Given the description of an element on the screen output the (x, y) to click on. 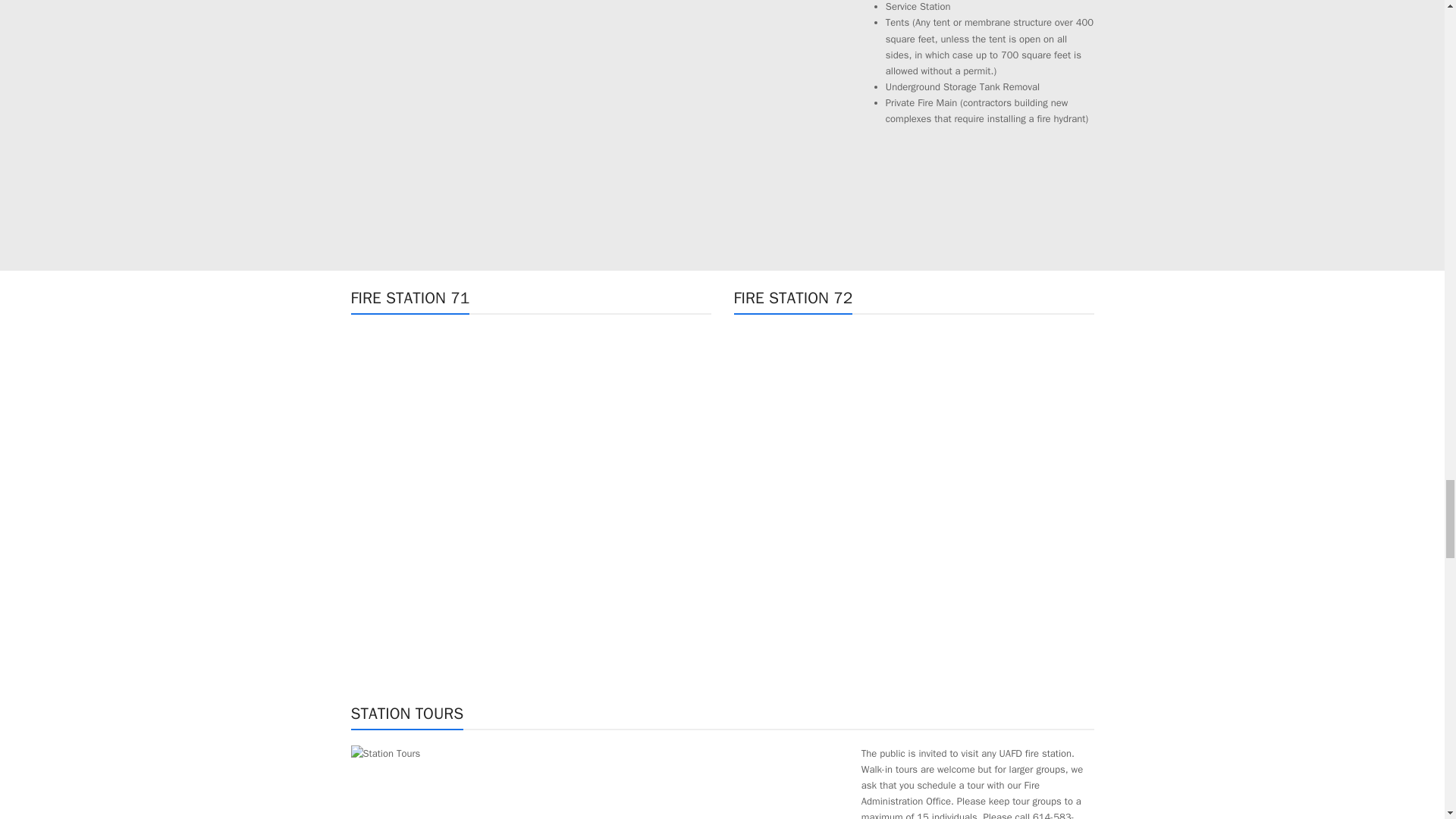
Station Tours (385, 753)
